Given the description of an element on the screen output the (x, y) to click on. 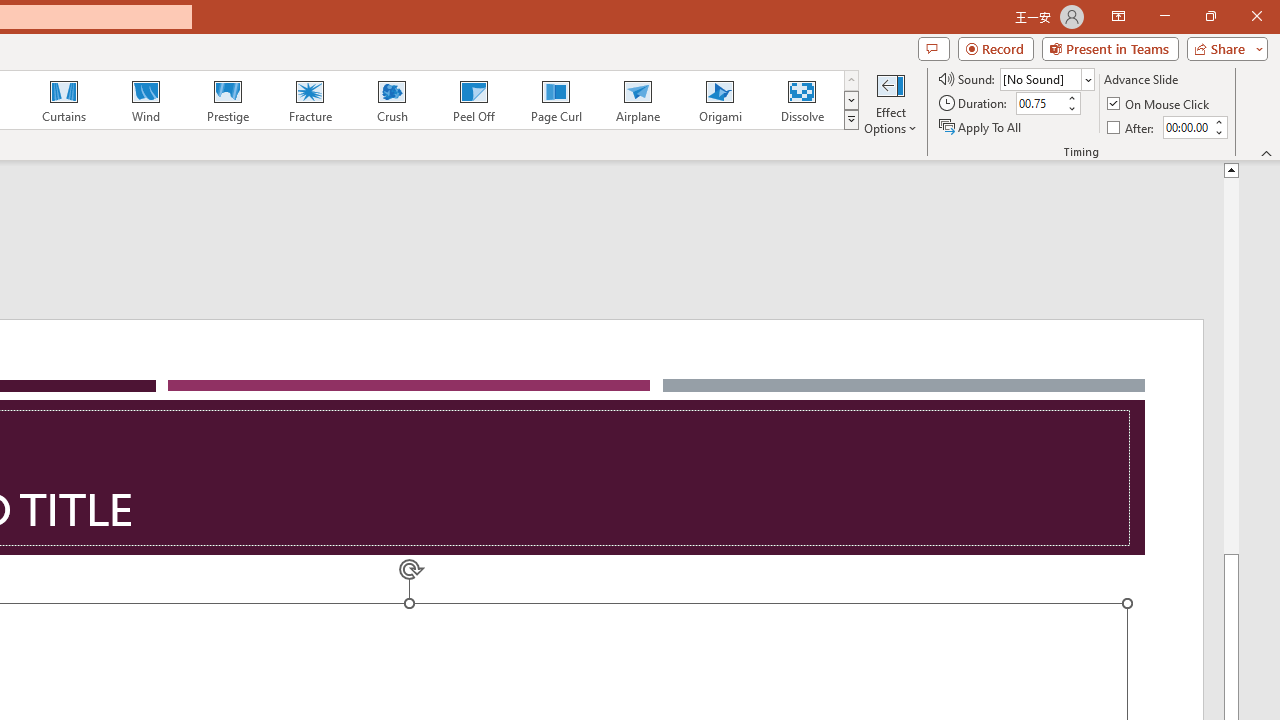
Sound (1046, 78)
Origami (719, 100)
After (1186, 127)
Fracture (309, 100)
Apply To All (981, 126)
Crush (391, 100)
Page Curl (555, 100)
After (1131, 126)
